Given the description of an element on the screen output the (x, y) to click on. 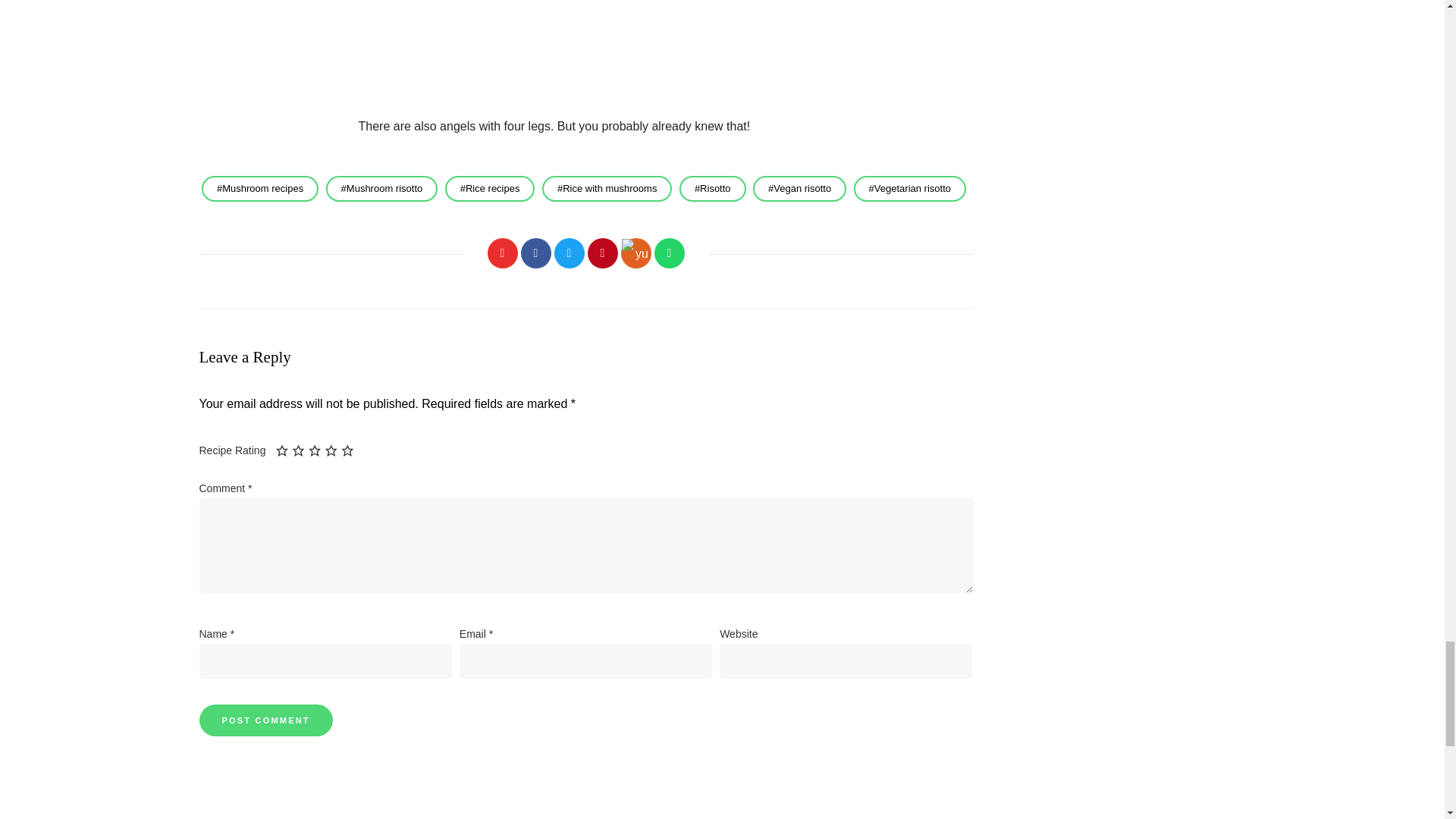
Risotto (712, 188)
Post Comment (264, 720)
Mushroom recipes (260, 188)
Twitter (568, 253)
Like (501, 253)
Vegan risotto (798, 188)
WhatsApp (668, 253)
Yummly (635, 253)
Mushroom risotto (382, 188)
Rice with mushrooms (606, 188)
